Given the description of an element on the screen output the (x, y) to click on. 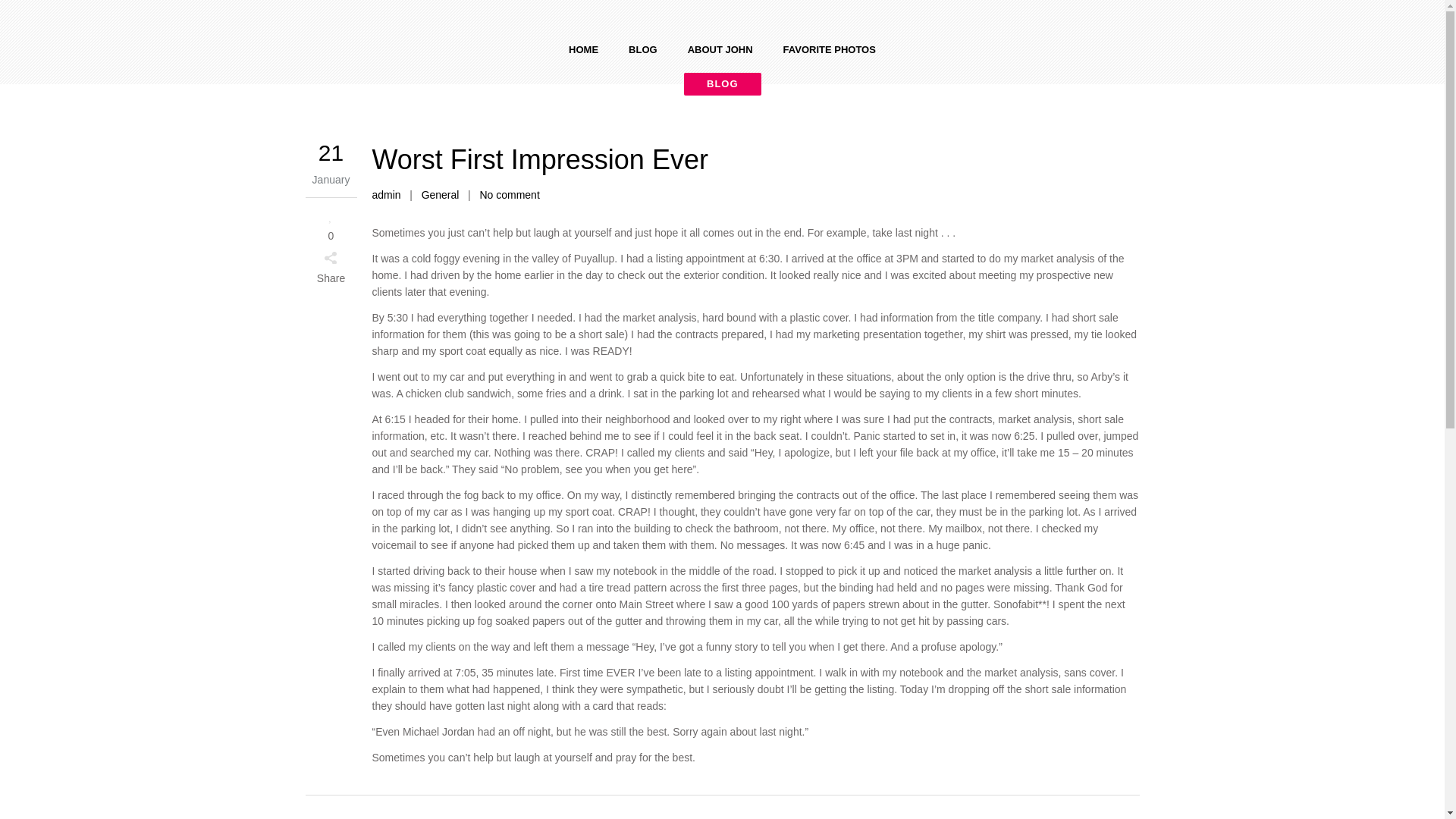
General (441, 194)
Like this (330, 224)
0 (330, 224)
No comment (508, 194)
ABOUT JOHN (720, 49)
FAVORITE PHOTOS (829, 49)
admin (385, 194)
